Given the description of an element on the screen output the (x, y) to click on. 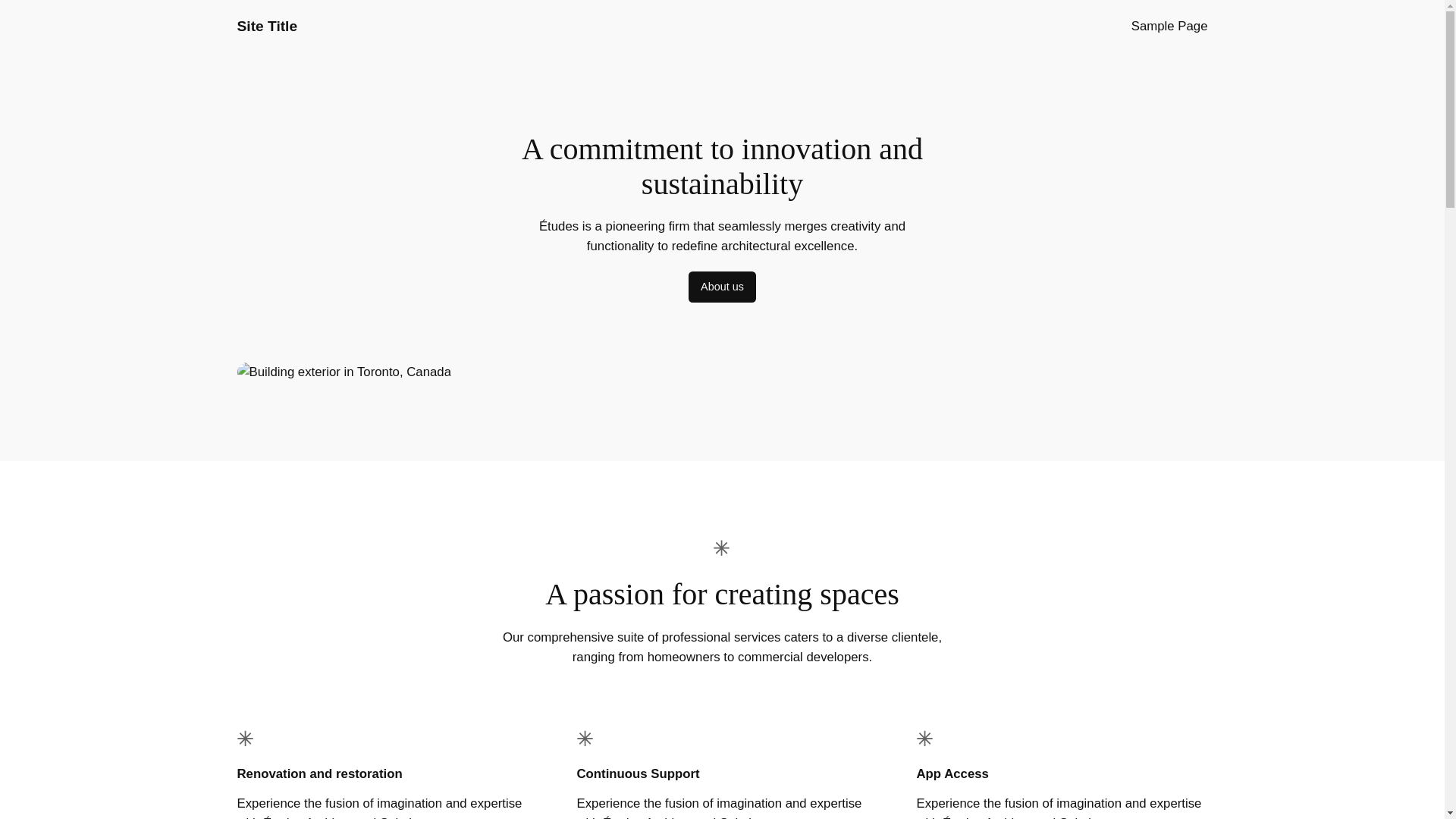
Site Title (266, 26)
Sample Page (1169, 26)
About us (721, 287)
